Given the description of an element on the screen output the (x, y) to click on. 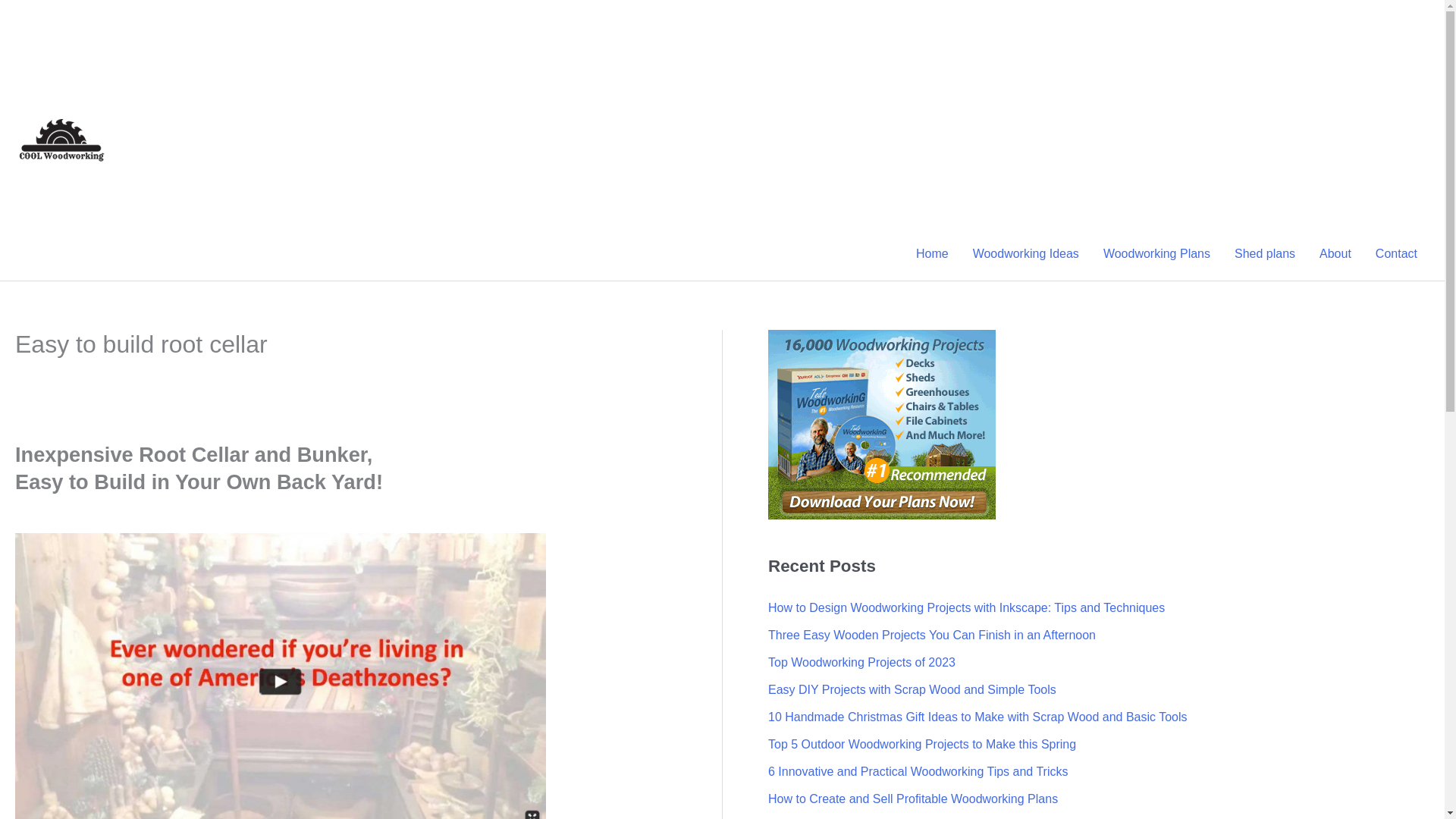
Woodworking Ideas (1025, 253)
Home (932, 253)
Advertisement (1166, 113)
Woodworking Plans (1156, 253)
About (1334, 253)
Contact (1395, 253)
Shed plans (1265, 253)
